Given the description of an element on the screen output the (x, y) to click on. 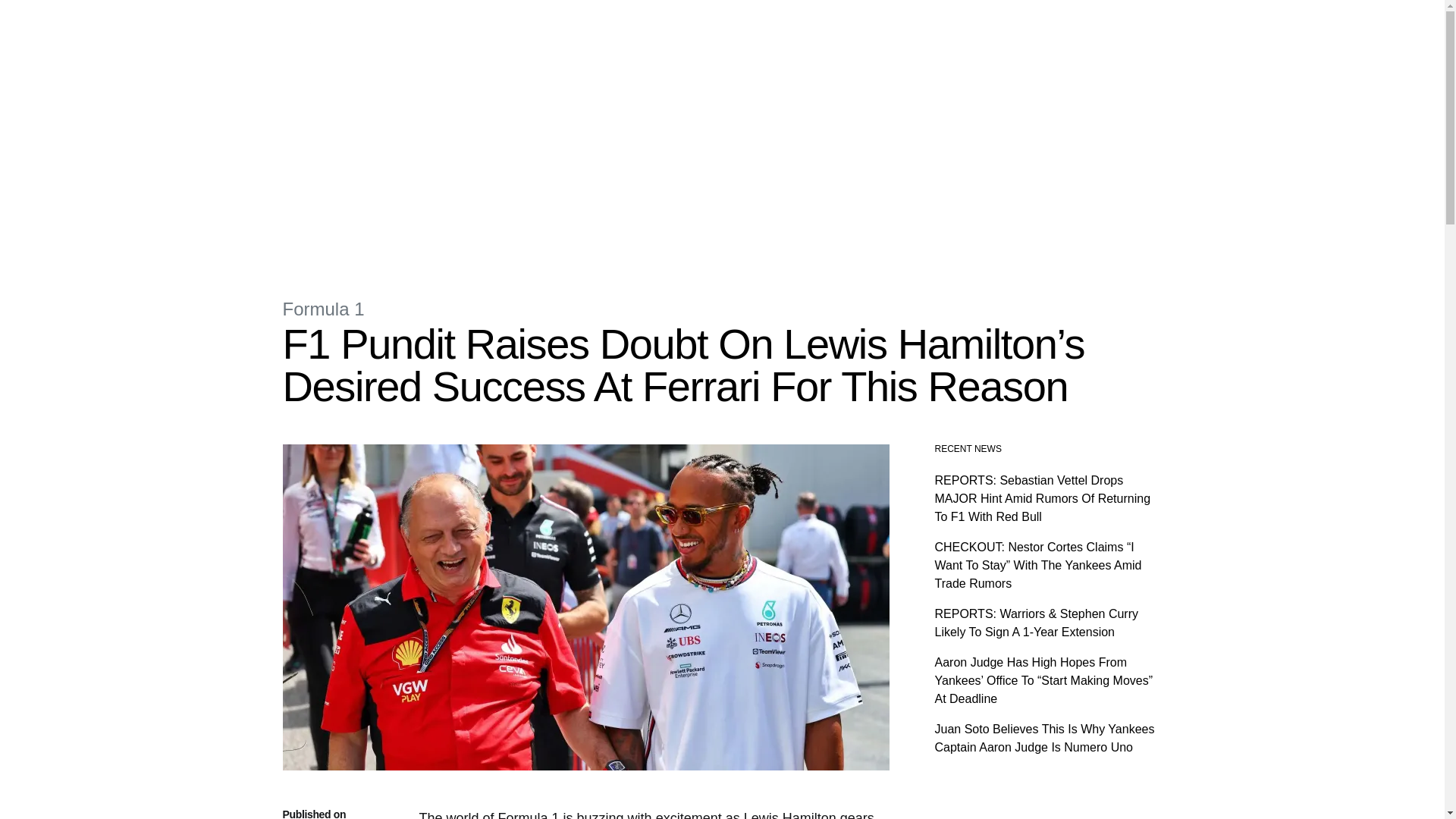
Formula 1 (323, 308)
Formula 1 (432, 22)
Yankees (559, 22)
Football (613, 22)
